Given the description of an element on the screen output the (x, y) to click on. 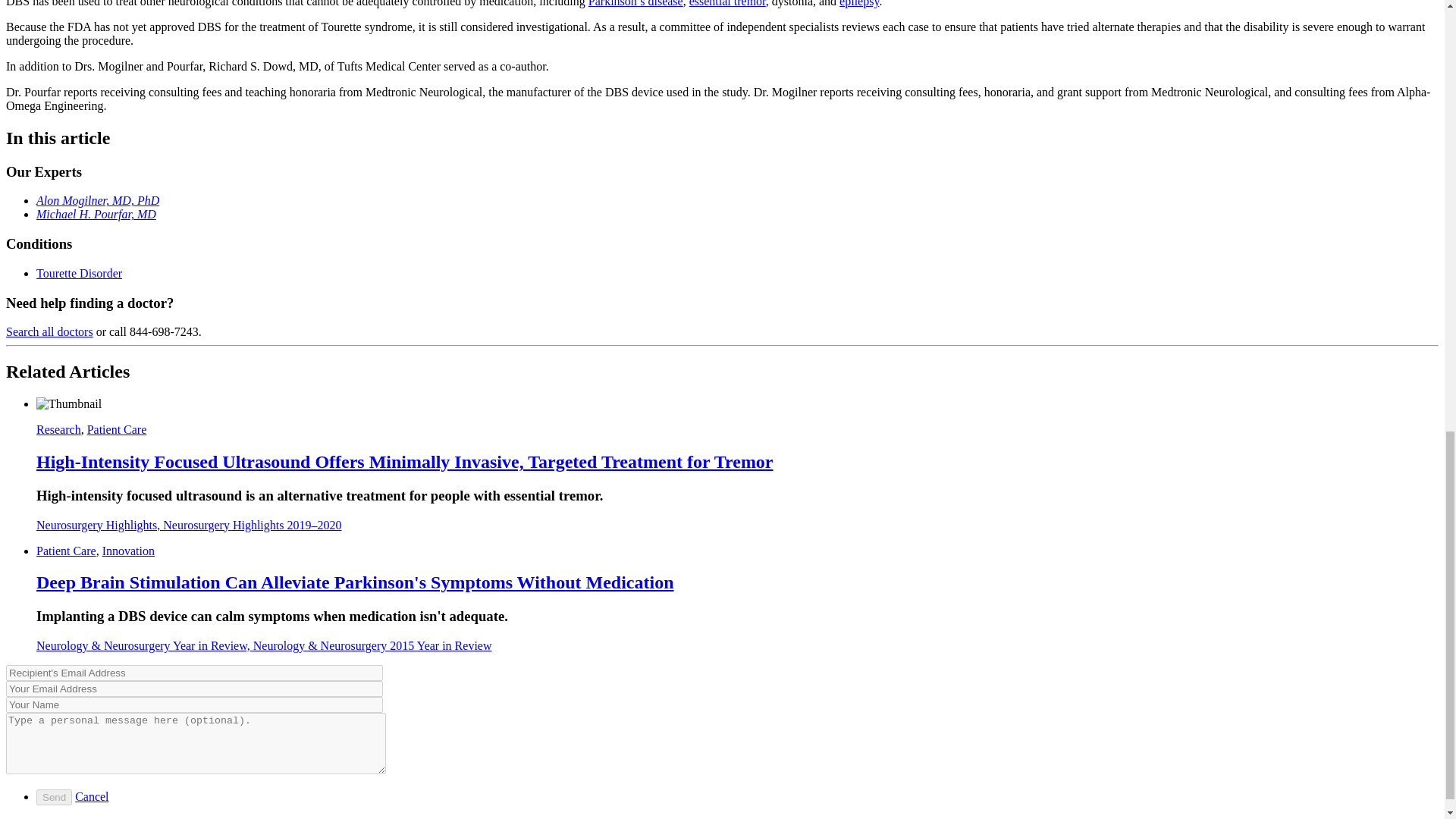
Cancel (91, 796)
Tourette Disorder (79, 273)
specialty-report-2019-neurosurgery-dr-alon-mogilner.jpg (68, 404)
Innovation (127, 550)
Send (53, 797)
Alon Mogilner, MD, PhD (97, 200)
Patient Care (117, 429)
Research (58, 429)
essential tremor (726, 3)
Patient Care (66, 550)
epilepsy (859, 3)
Search all doctors (49, 331)
Send (53, 797)
